Given the description of an element on the screen output the (x, y) to click on. 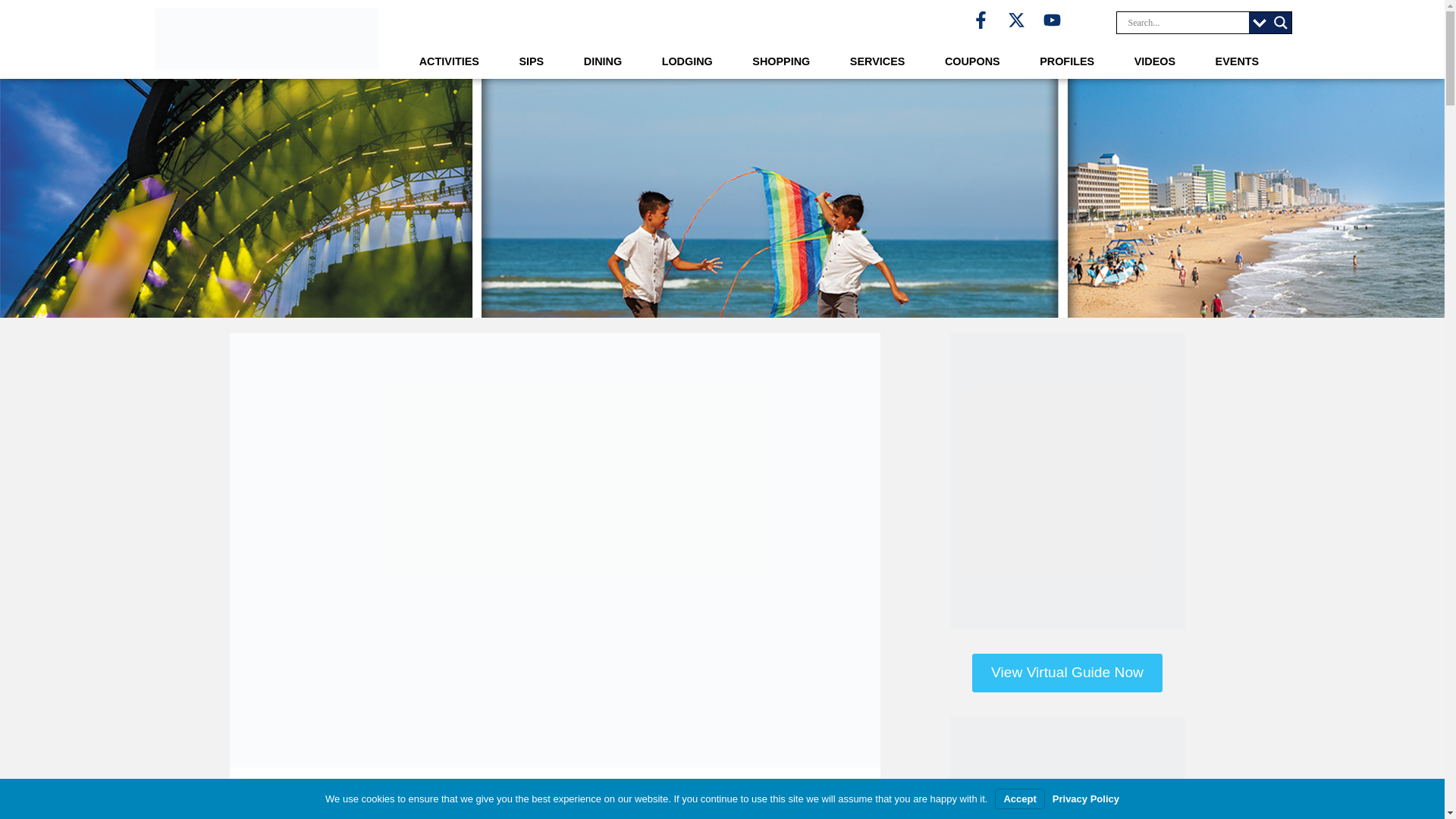
SIPS (531, 62)
ACTIVITIES (448, 62)
DINING (602, 62)
